Given the description of an element on the screen output the (x, y) to click on. 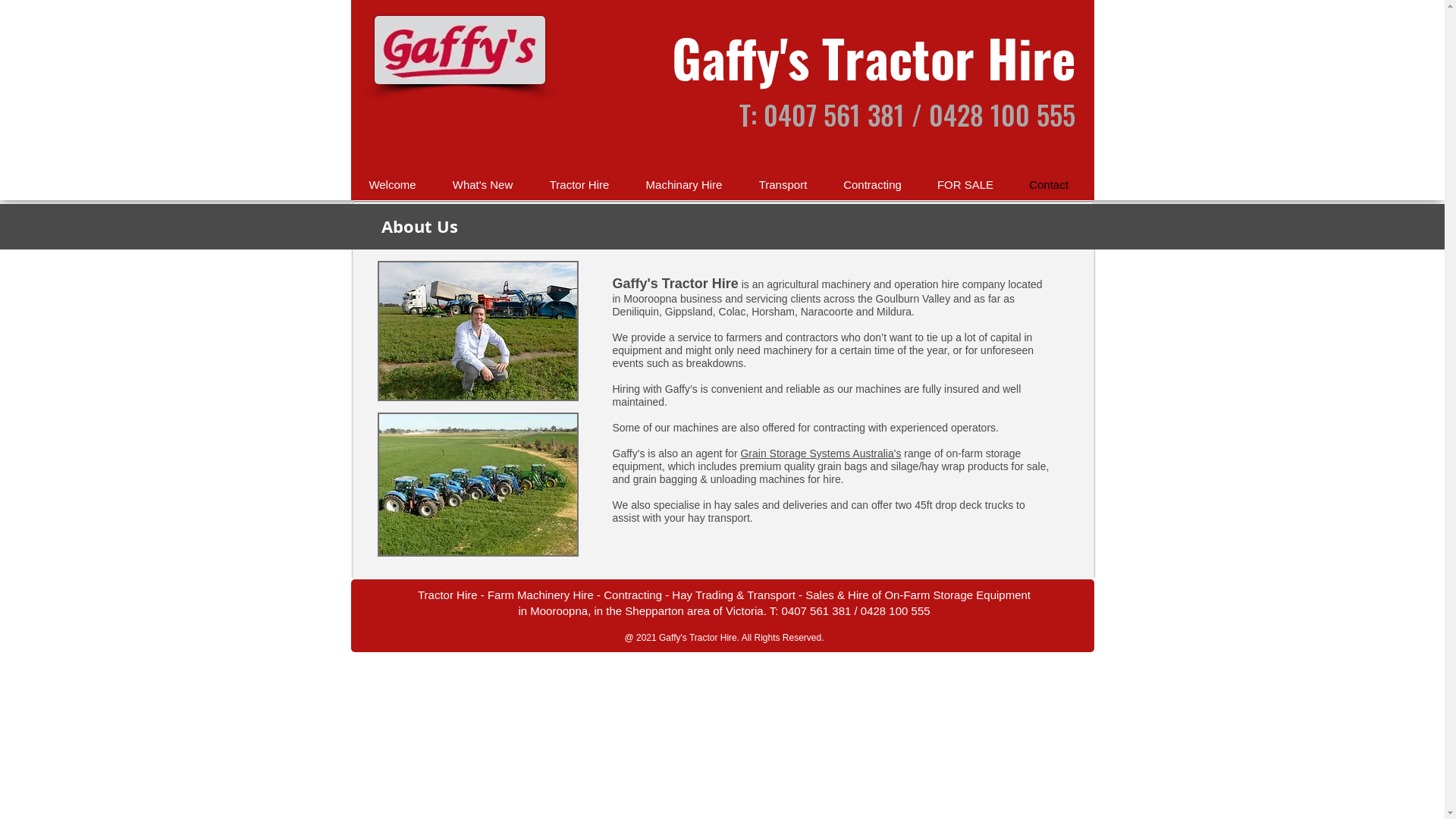
Tractor Hire Element type: text (578, 184)
Contact Element type: text (1048, 184)
Grain Storage Systems Australia's Element type: text (820, 453)
Contracting Element type: text (872, 184)
Tim Gaffy Element type: hover (477, 330)
Welcome Element type: text (391, 184)
Machinary Hire Element type: text (683, 184)
Transport Element type: text (782, 184)
What's New Element type: text (481, 184)
Gaffys Tractor Hire Element type: hover (477, 484)
FOR SALE Element type: text (964, 184)
